Given the description of an element on the screen output the (x, y) to click on. 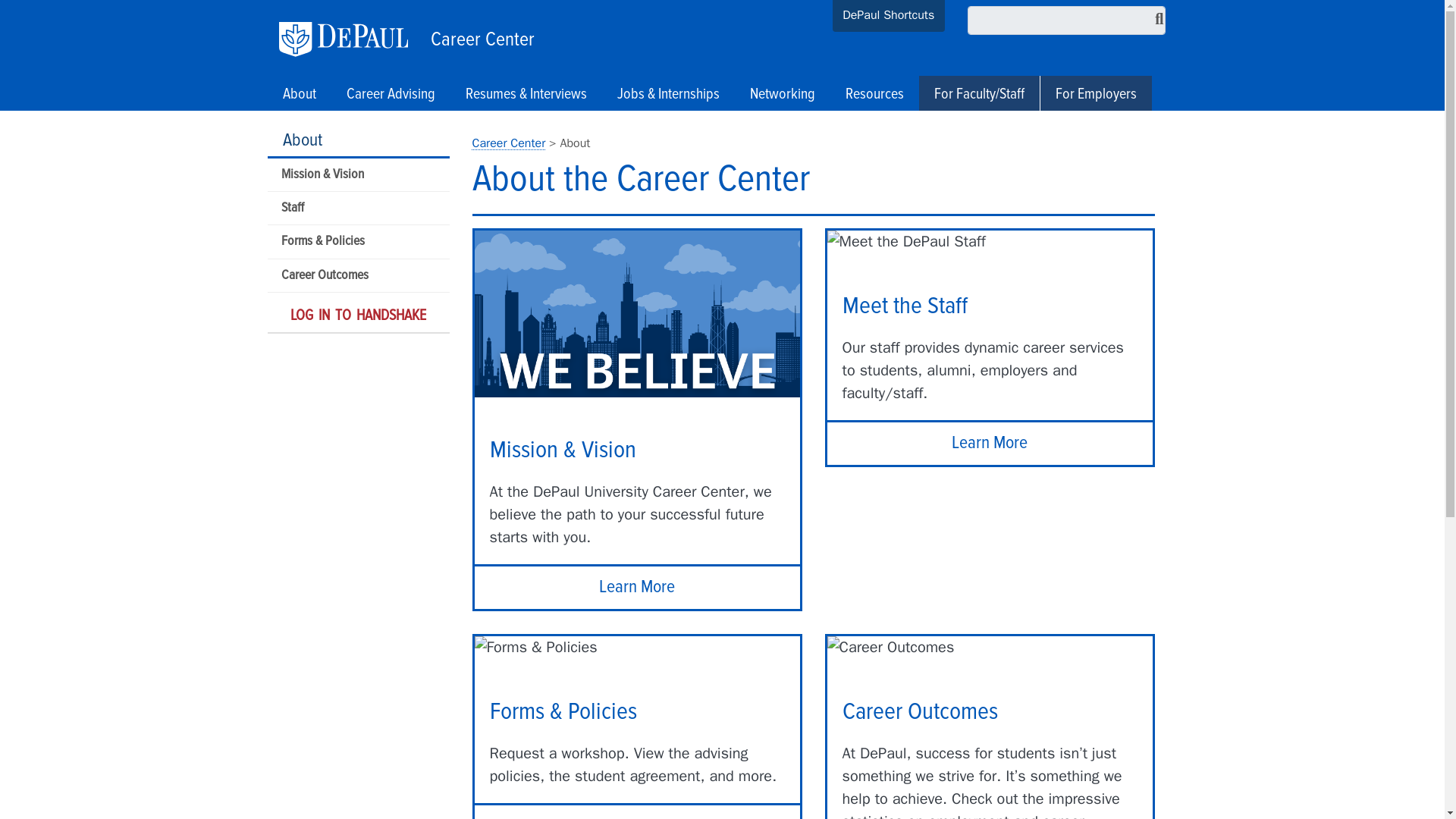
DePaul University Career Center (507, 142)
Career Center (478, 36)
DePaul Shortcuts (888, 16)
DePaul University (351, 39)
